Given the description of an element on the screen output the (x, y) to click on. 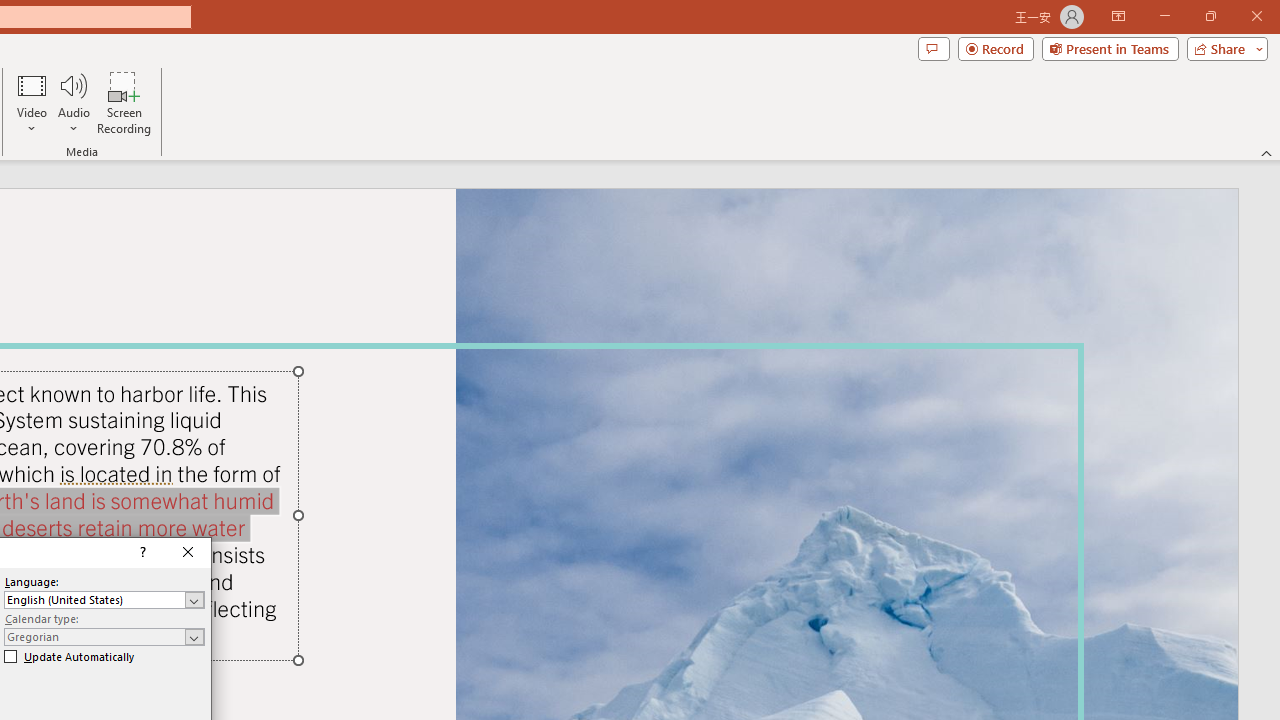
Context help (141, 552)
Ribbon Display Options (1118, 16)
Comments (933, 48)
Share (1223, 48)
Language (103, 600)
Present in Teams (1109, 48)
Restore Down (1210, 16)
Close (188, 552)
Update Automatically (69, 656)
Collapse the Ribbon (1267, 152)
Video (31, 102)
Audio (73, 102)
Calendar type (103, 636)
Open (194, 637)
